Given the description of an element on the screen output the (x, y) to click on. 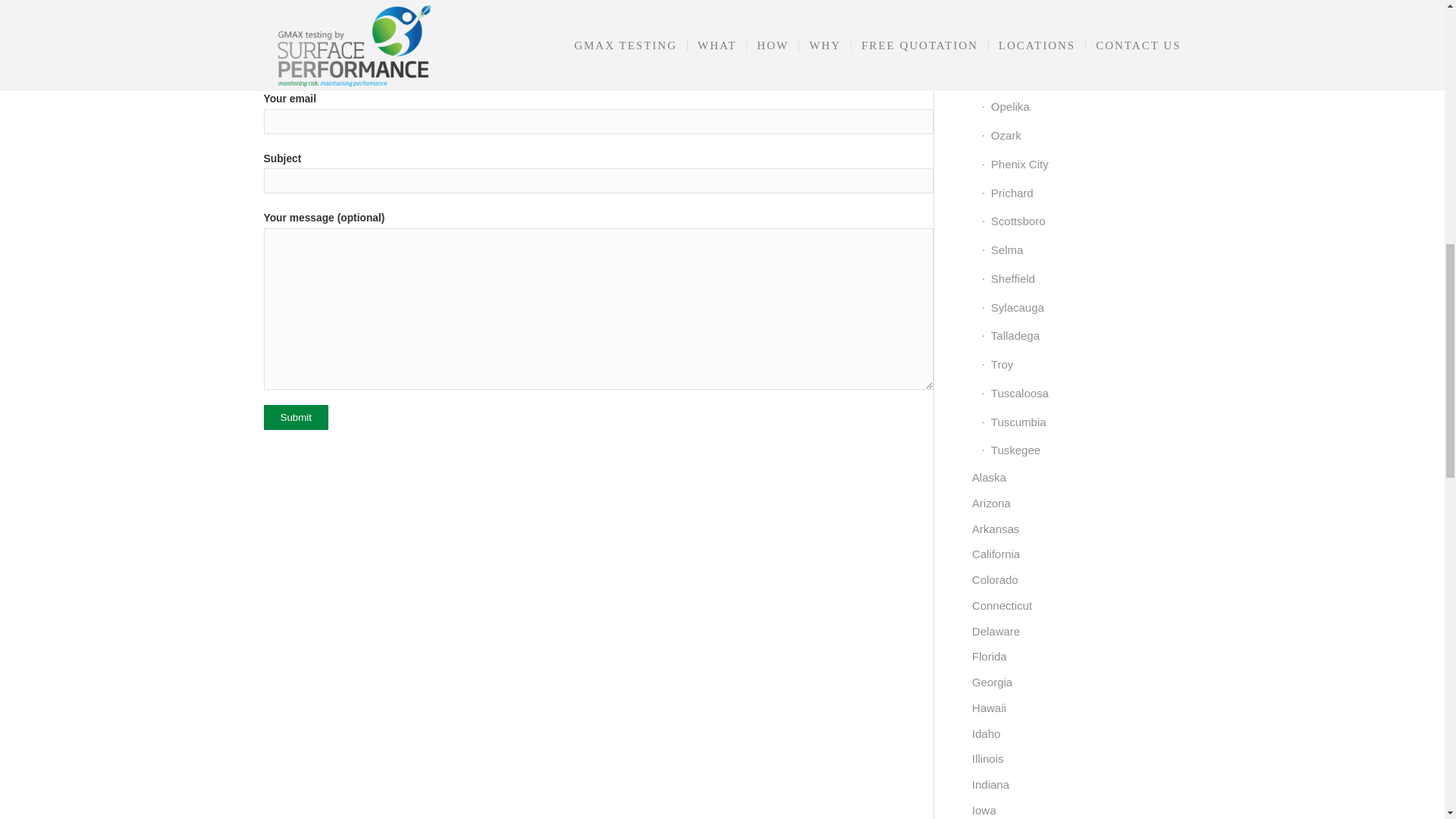
Marion (1080, 21)
Submit (296, 416)
Jasper (1080, 3)
Submit (296, 416)
